Given the description of an element on the screen output the (x, y) to click on. 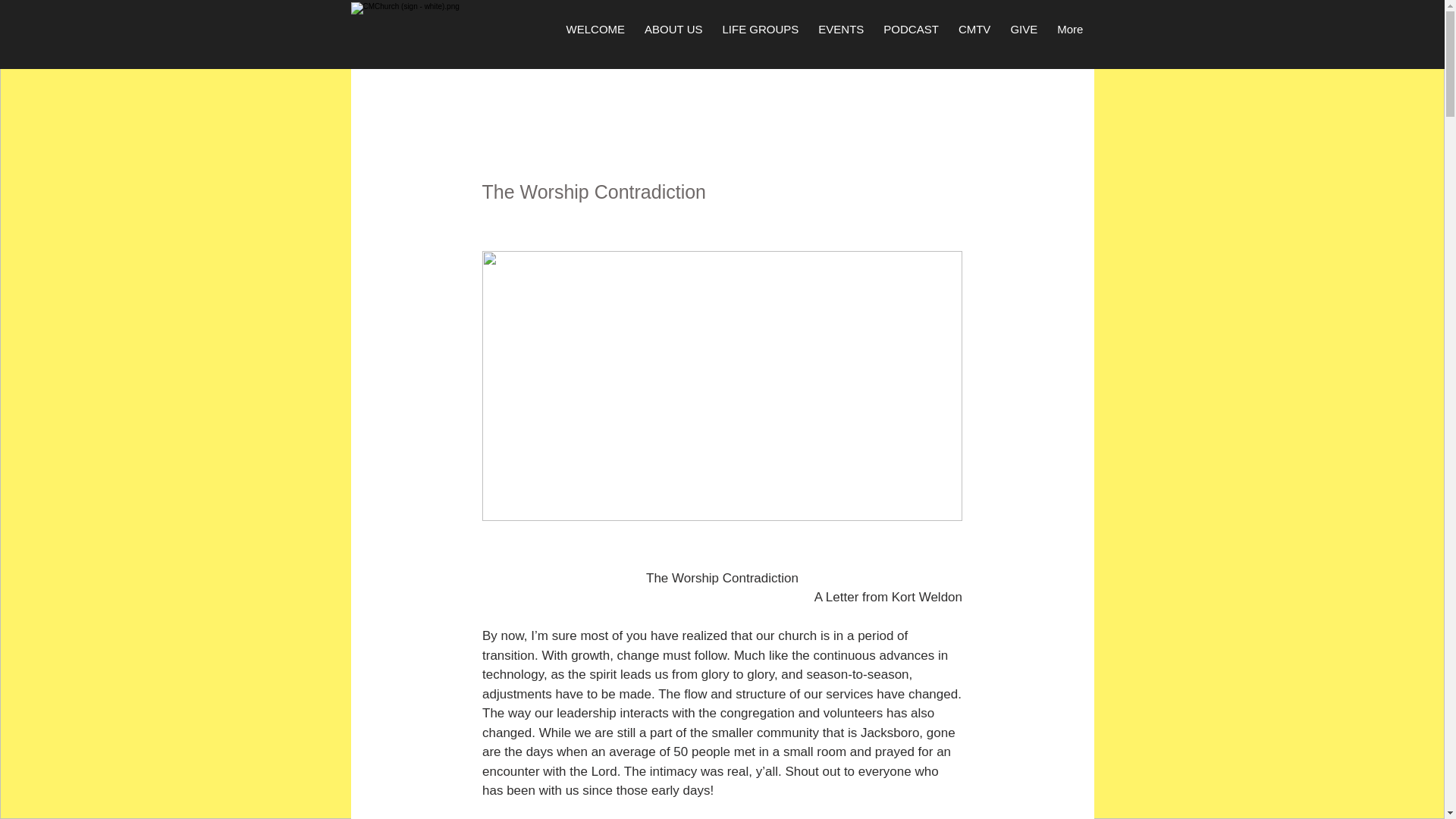
WELCOME (595, 39)
ABOUT US (672, 39)
EVENTS (840, 39)
PODCAST (911, 39)
CMTV (975, 39)
LIFE GROUPS (759, 39)
GIVE (1023, 39)
